Given the description of an element on the screen output the (x, y) to click on. 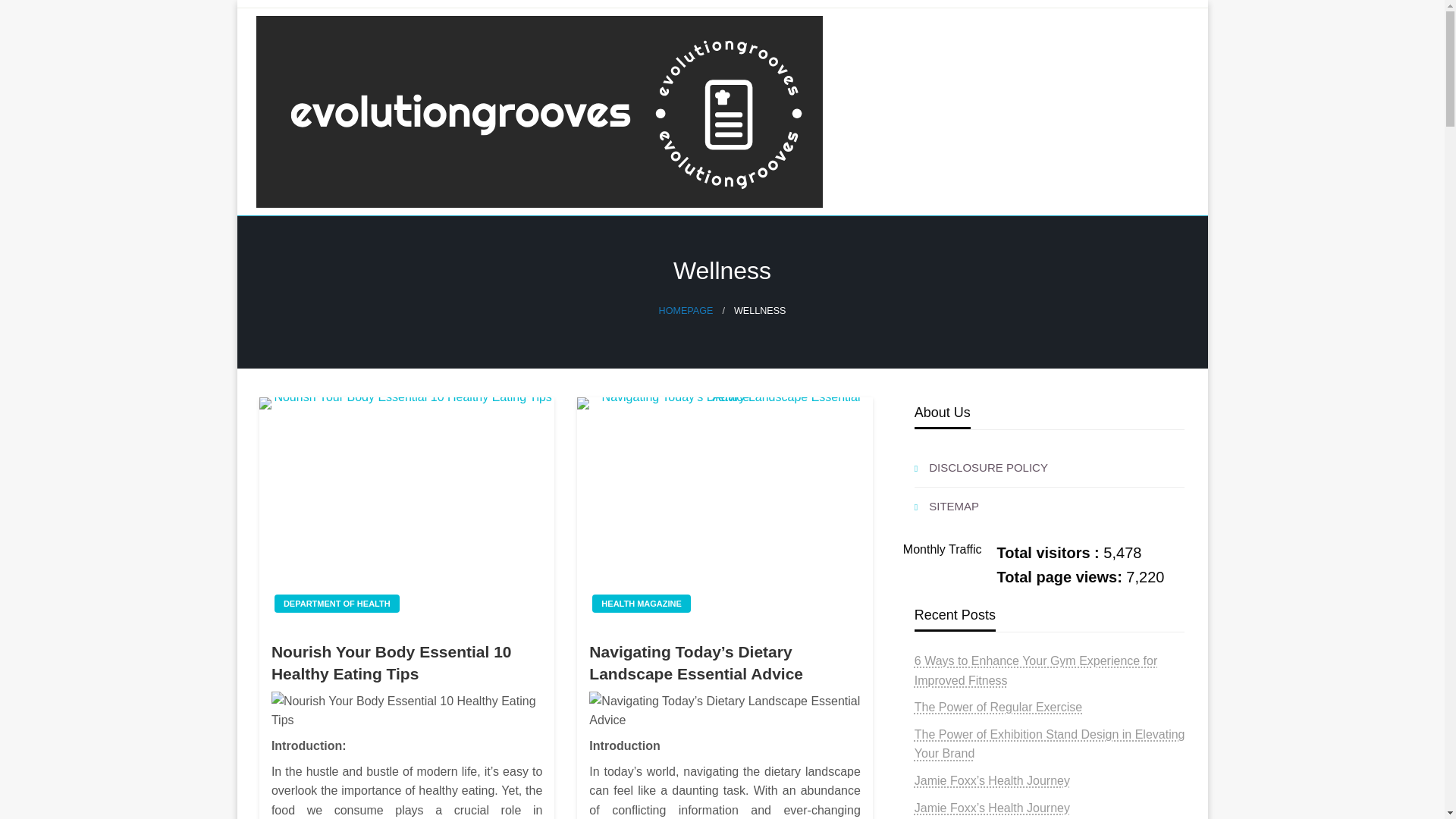
Evolution Grooves (379, 234)
Nourish Your Body Essential 10 Healthy Eating Tips (406, 510)
Homepage (686, 310)
Nourish Your Body Essential 10 Healthy Eating Tips (405, 710)
